Given the description of an element on the screen output the (x, y) to click on. 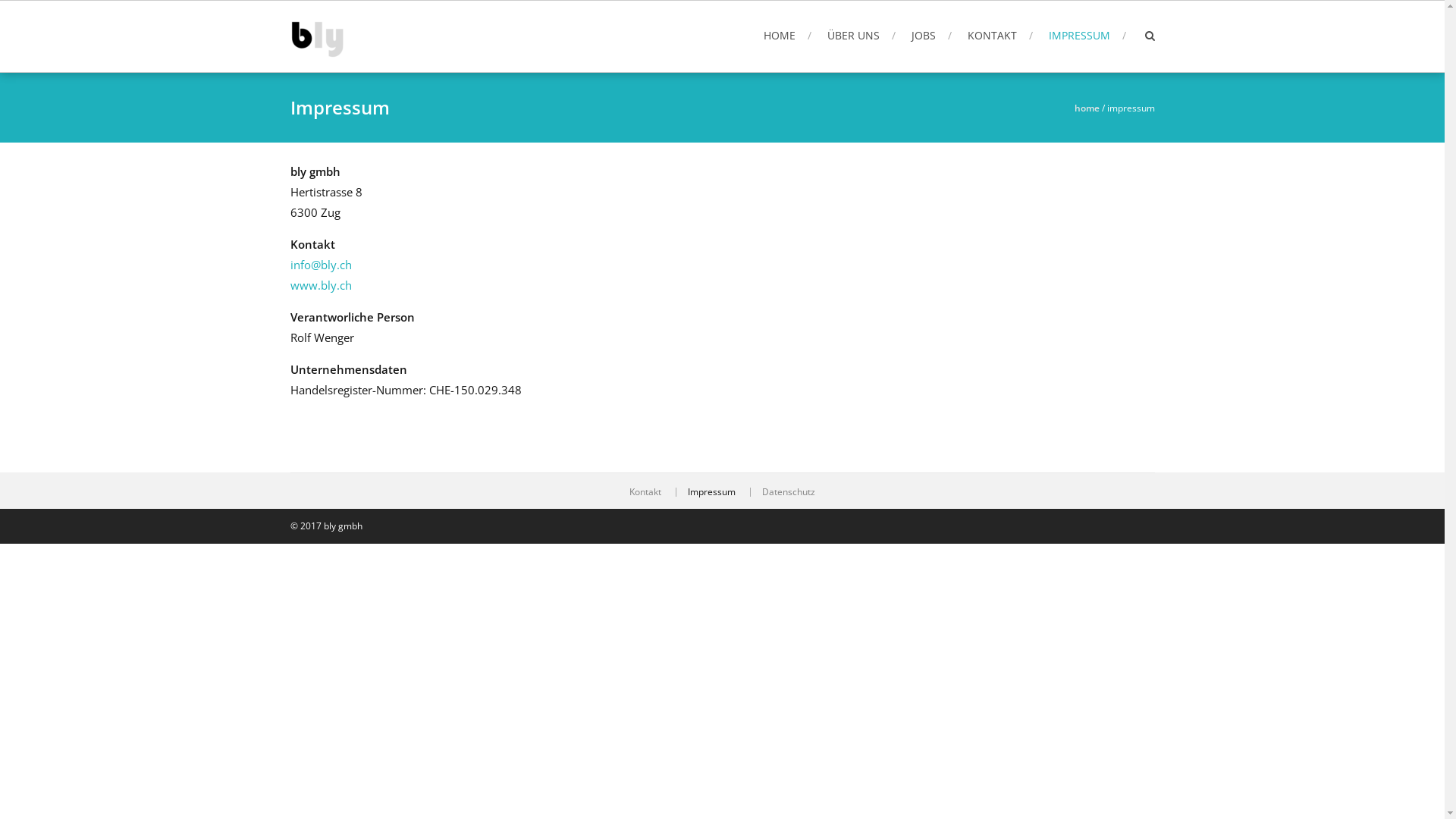
JOBS Element type: text (931, 34)
Kontakt Element type: text (645, 491)
HOME Element type: text (786, 34)
Impressum Element type: text (710, 491)
home Element type: text (1085, 107)
IMPRESSUM Element type: text (1086, 34)
Datenschutz Element type: text (787, 491)
www.bly.ch Element type: text (320, 284)
info@bly.ch Element type: text (320, 264)
KONTAKT Element type: text (999, 34)
